Given the description of an element on the screen output the (x, y) to click on. 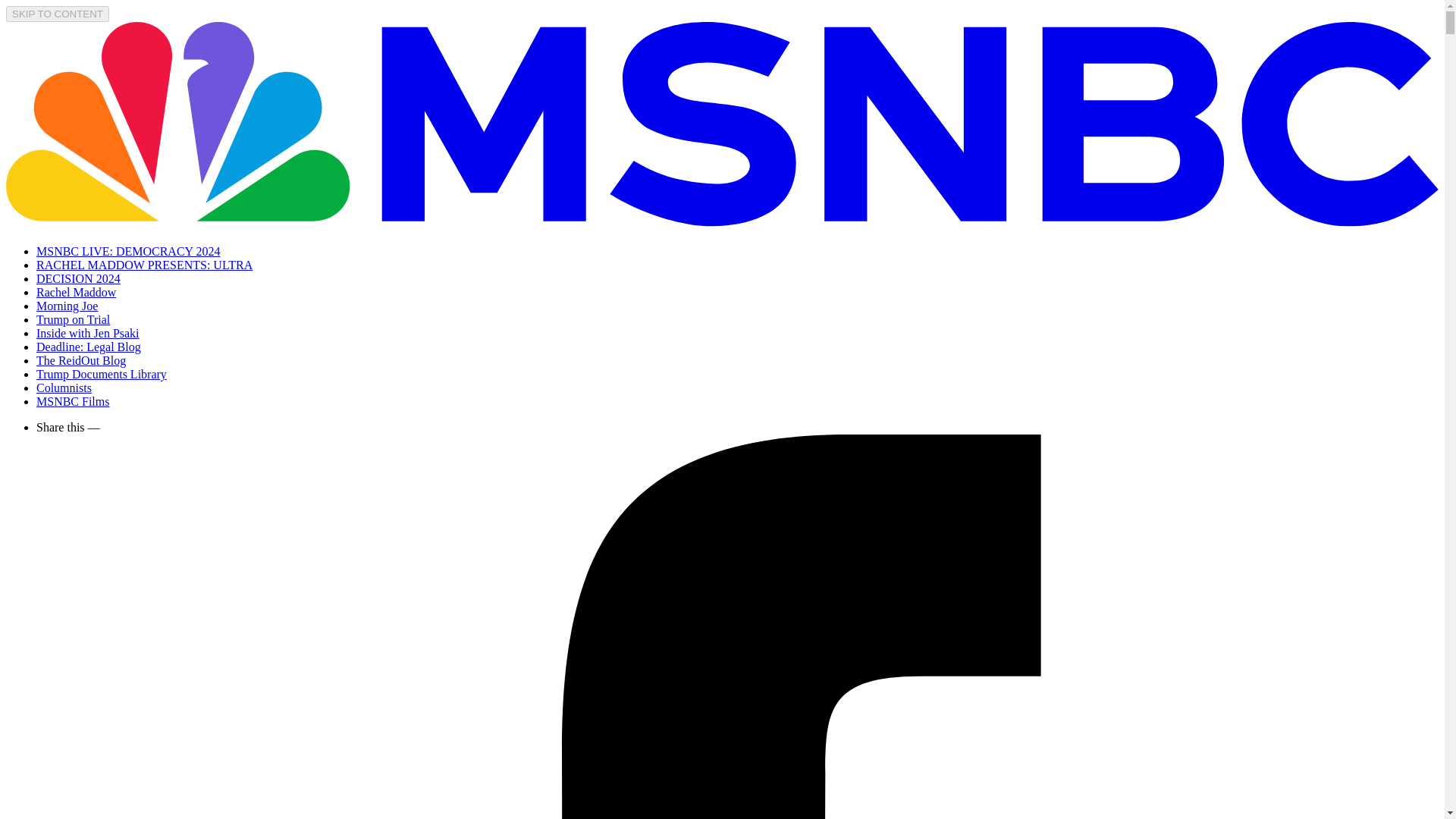
MSNBC LIVE: DEMOCRACY 2024 (128, 250)
The ReidOut Blog (80, 359)
Trump on Trial (73, 318)
DECISION 2024 (78, 278)
Deadline: Legal Blog (88, 346)
Columnists (63, 387)
Trump Documents Library (101, 373)
Morning Joe (66, 305)
SKIP TO CONTENT (57, 13)
Rachel Maddow (76, 291)
